Given the description of an element on the screen output the (x, y) to click on. 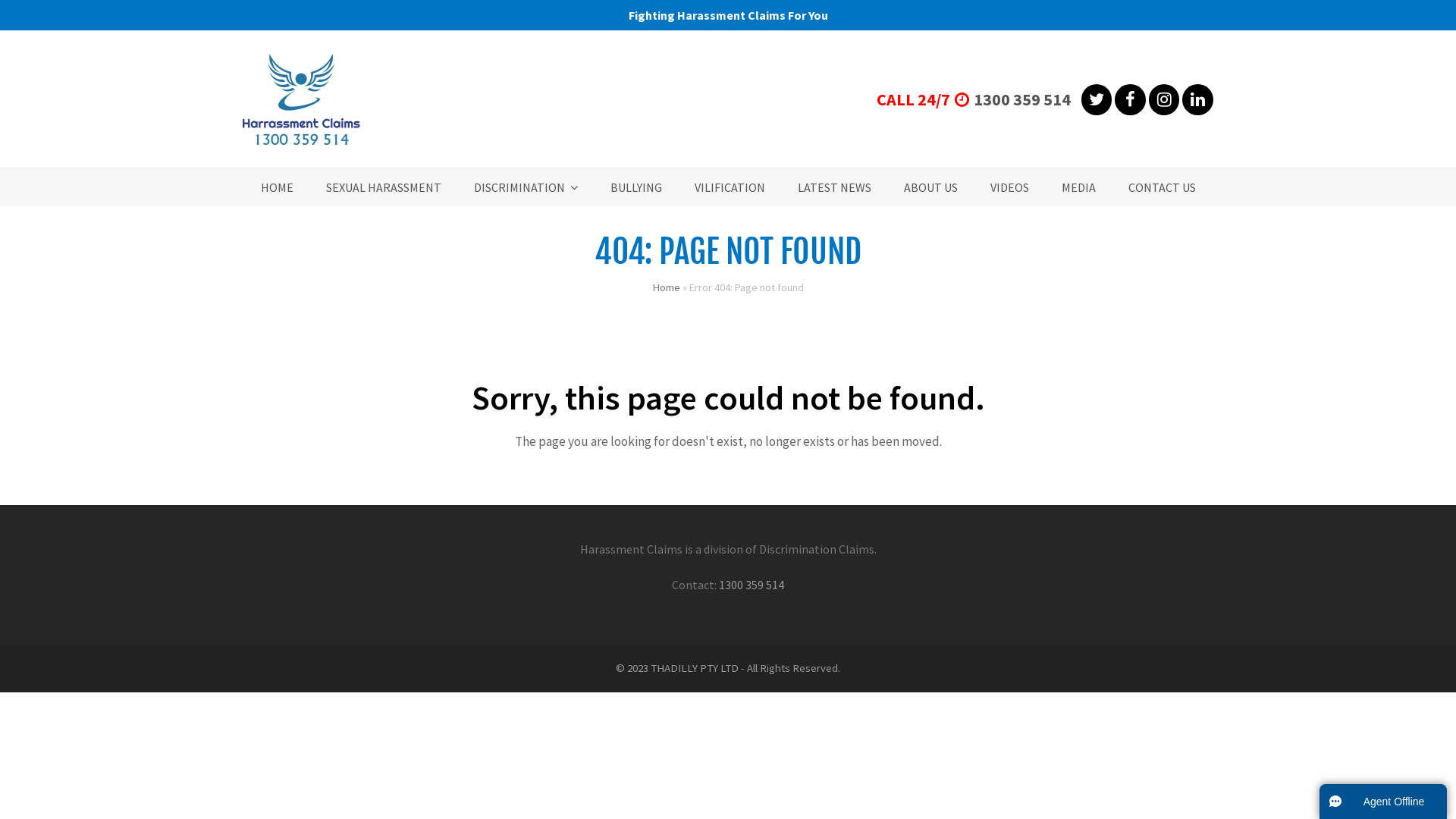
MEDIA Element type: text (1078, 187)
LATEST NEWS Element type: text (834, 187)
1300 359 514 Element type: text (1021, 98)
BULLYING Element type: text (635, 187)
HOME Element type: text (276, 187)
Facebook Element type: text (1129, 99)
DISCRIMINATION Element type: text (525, 187)
1300 359 514 Element type: text (751, 584)
VIDEOS Element type: text (1009, 187)
VILIFICATION Element type: text (729, 187)
Home Element type: text (665, 287)
SEXUAL HARASSMENT Element type: text (383, 187)
Instagram Element type: text (1163, 99)
ABOUT US Element type: text (930, 187)
Twitter Element type: text (1096, 99)
CONTACT US Element type: text (1162, 187)
LinkedIn Element type: text (1197, 99)
